Given the description of an element on the screen output the (x, y) to click on. 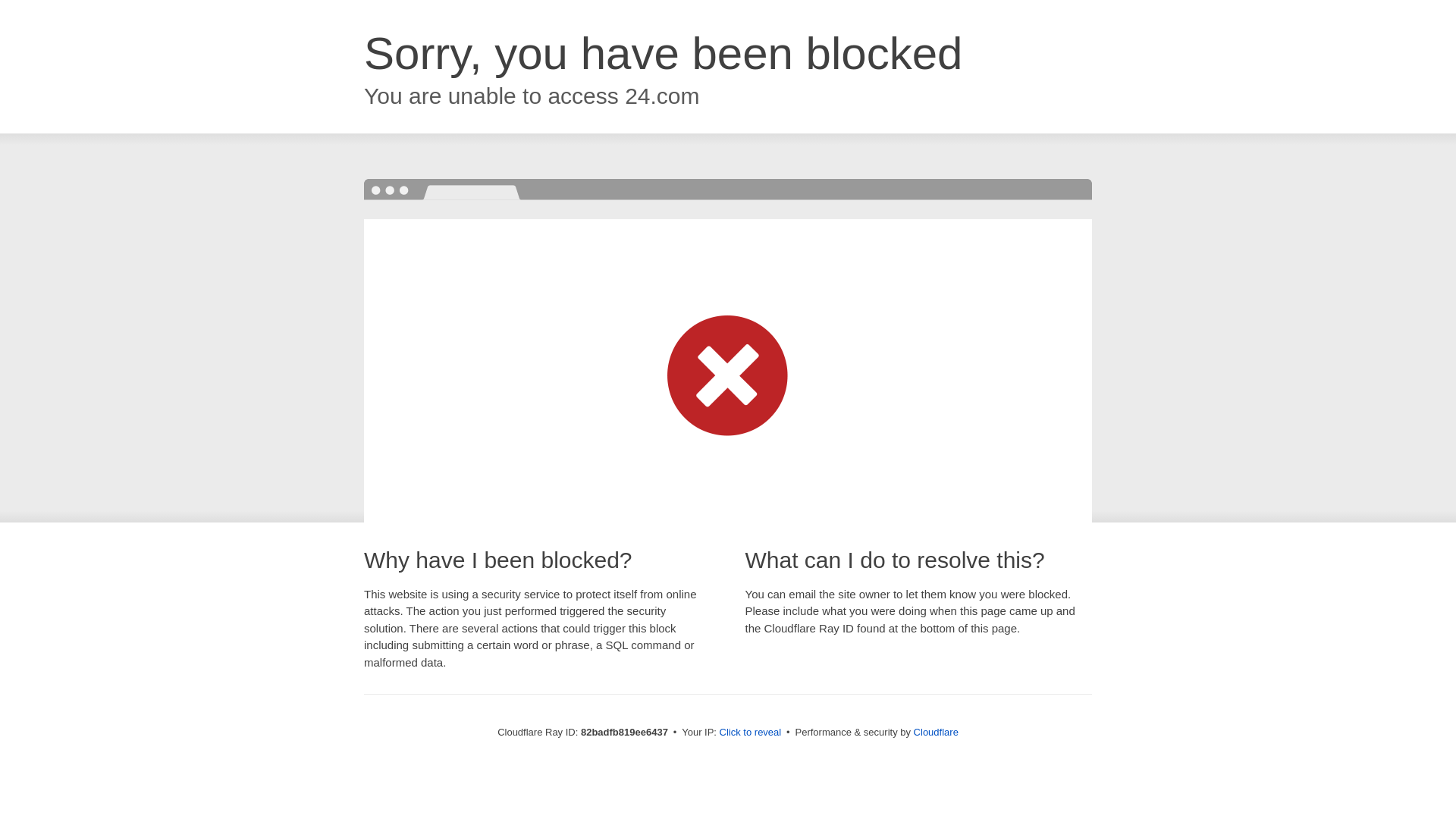
Cloudflare Element type: text (935, 731)
Click to reveal Element type: text (750, 732)
